Given the description of an element on the screen output the (x, y) to click on. 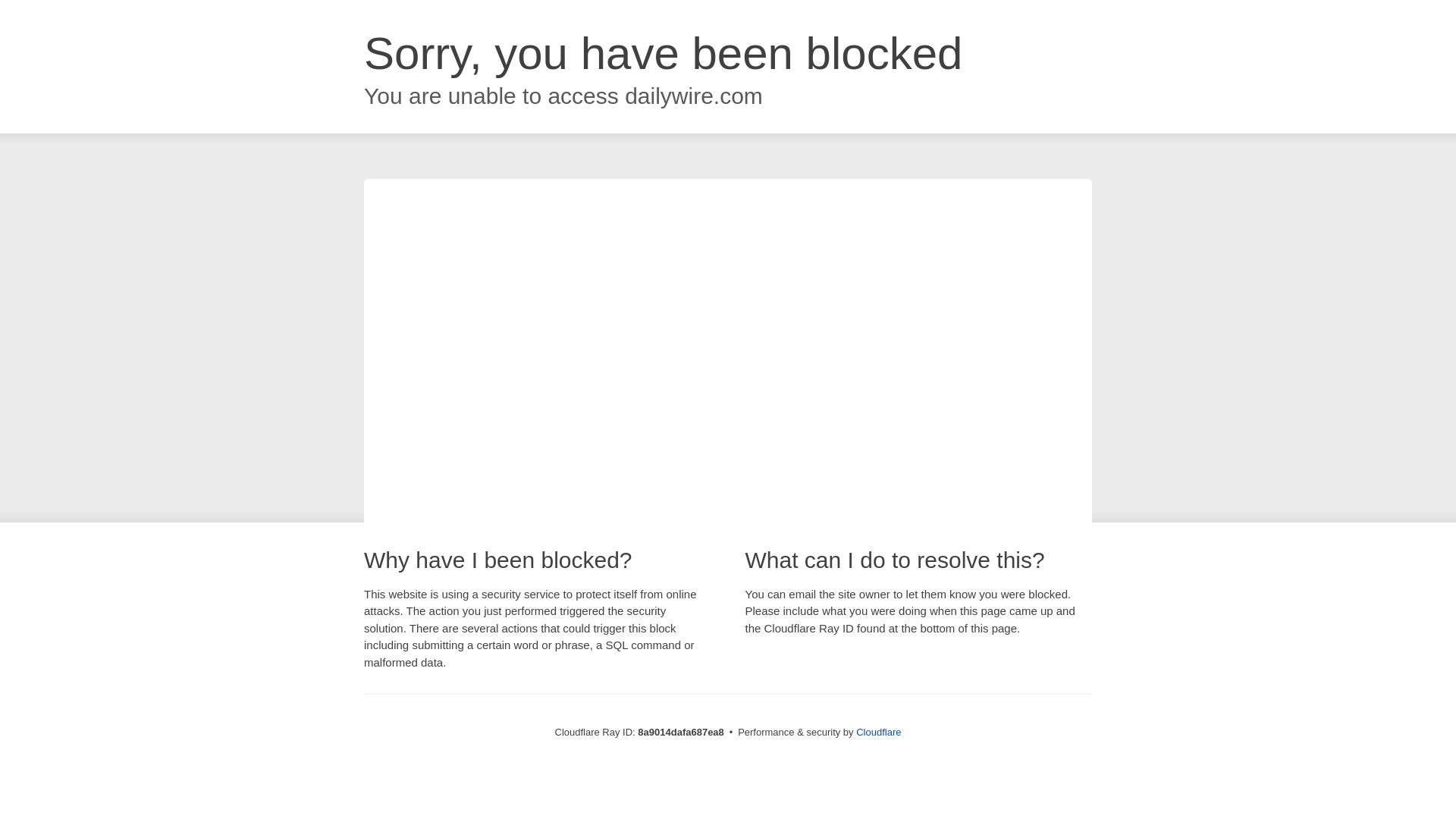
Cloudflare (878, 731)
